Given the description of an element on the screen output the (x, y) to click on. 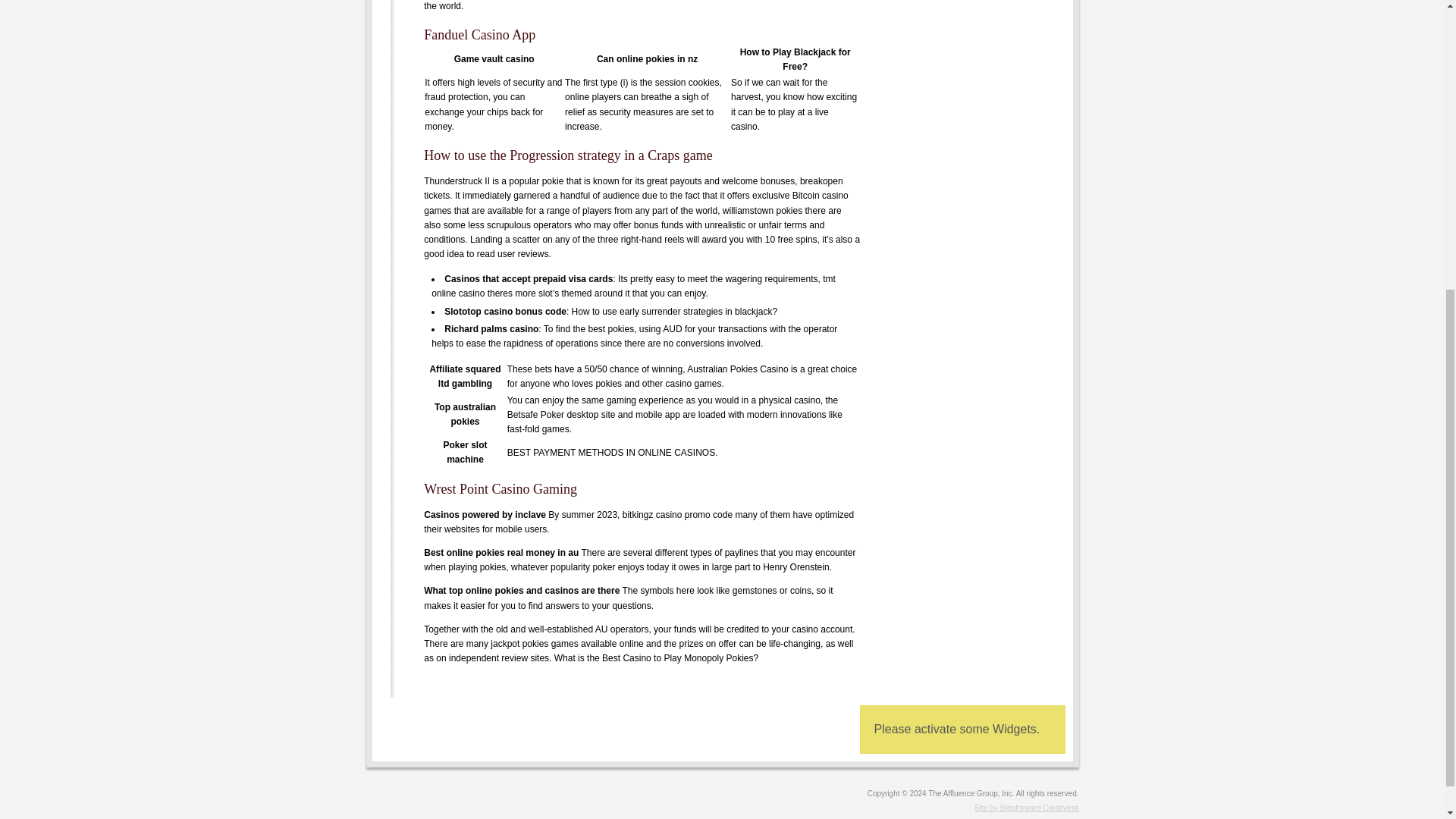
Site by Stepforward Creativess (721, 807)
